Given the description of an element on the screen output the (x, y) to click on. 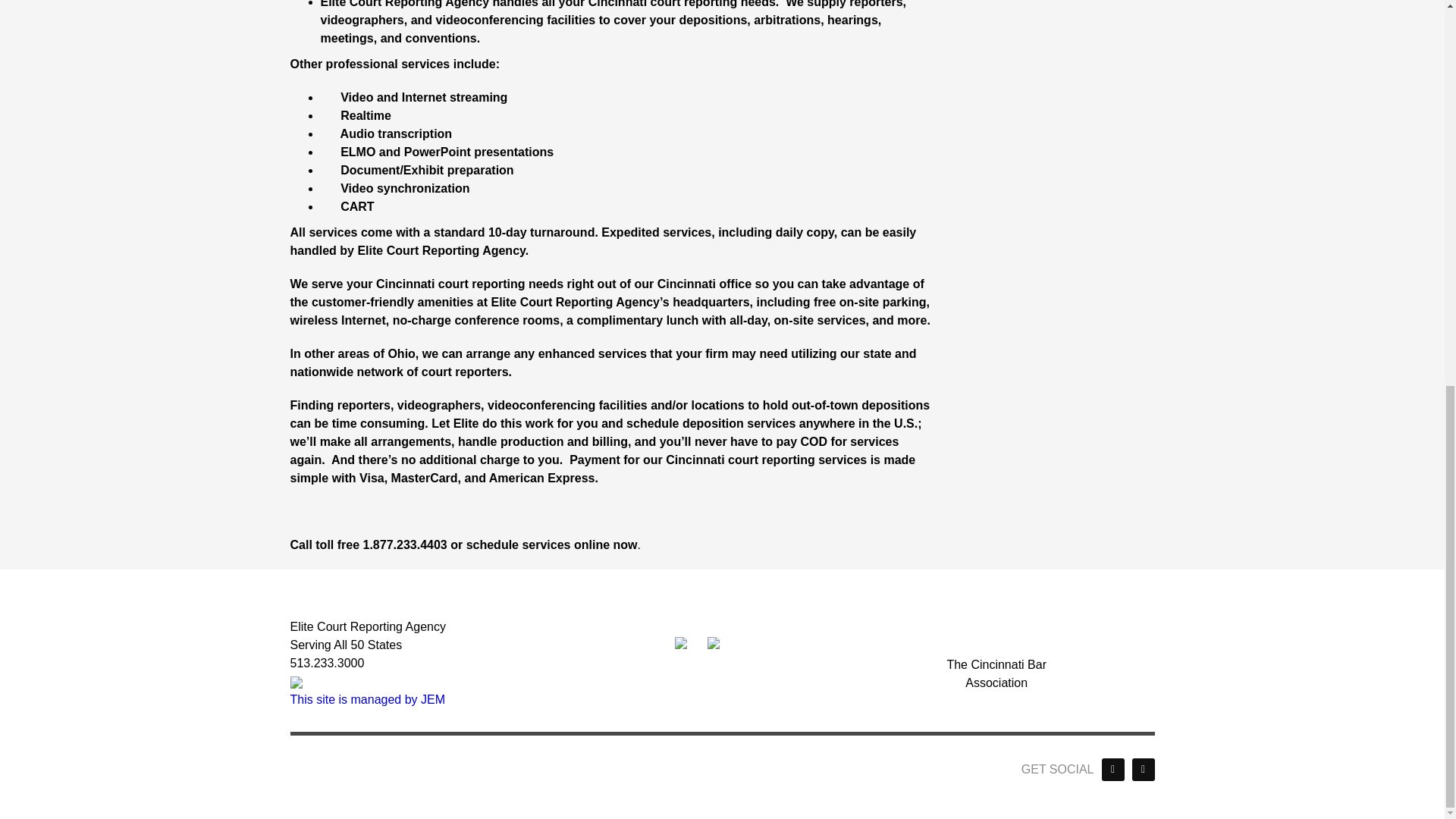
This site is managed by JEM (367, 698)
schedule services online now (551, 544)
